Given the description of an element on the screen output the (x, y) to click on. 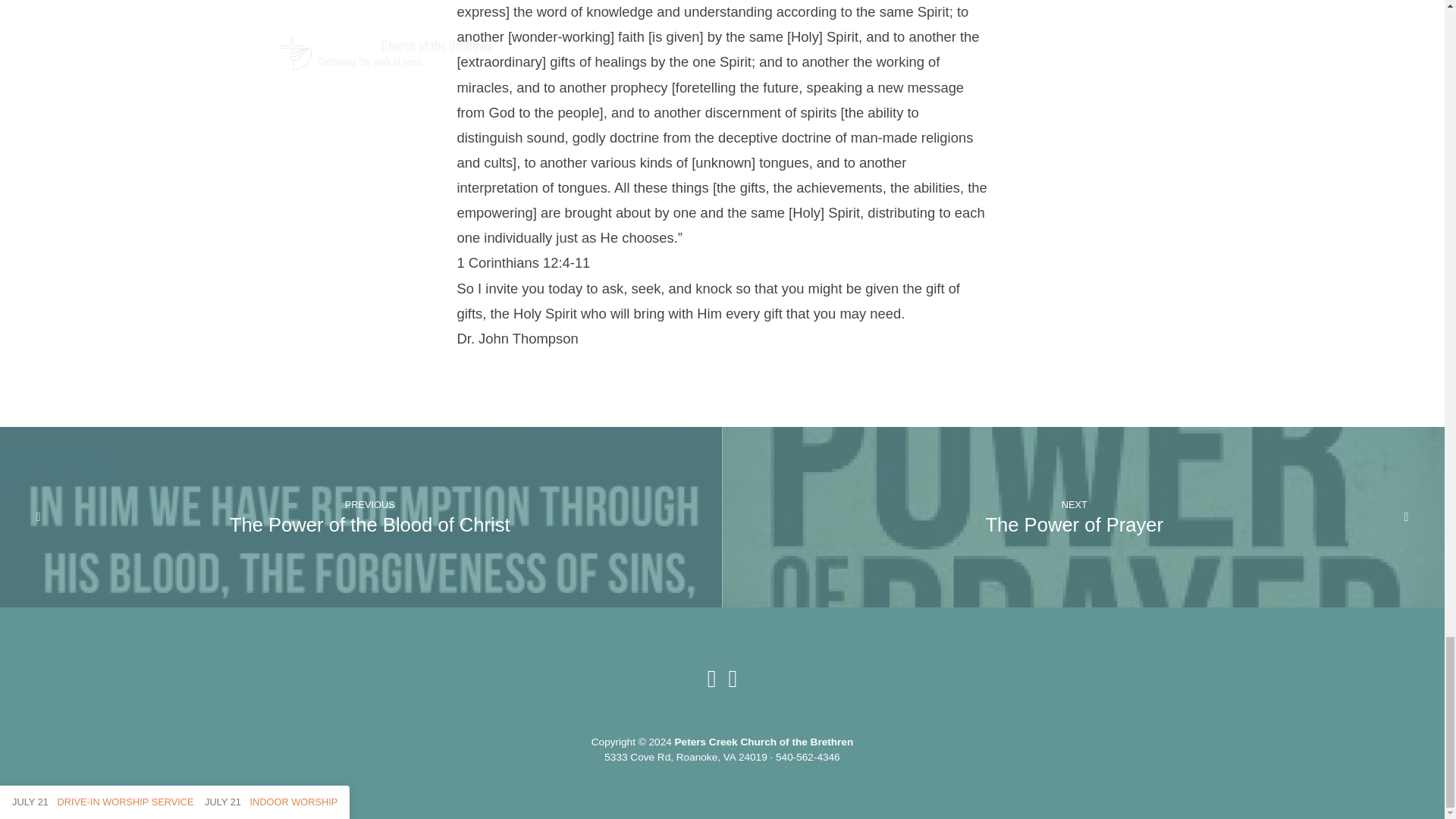
The Power of Prayer (1074, 524)
The Power of the Blood of Christ (370, 524)
